Given the description of an element on the screen output the (x, y) to click on. 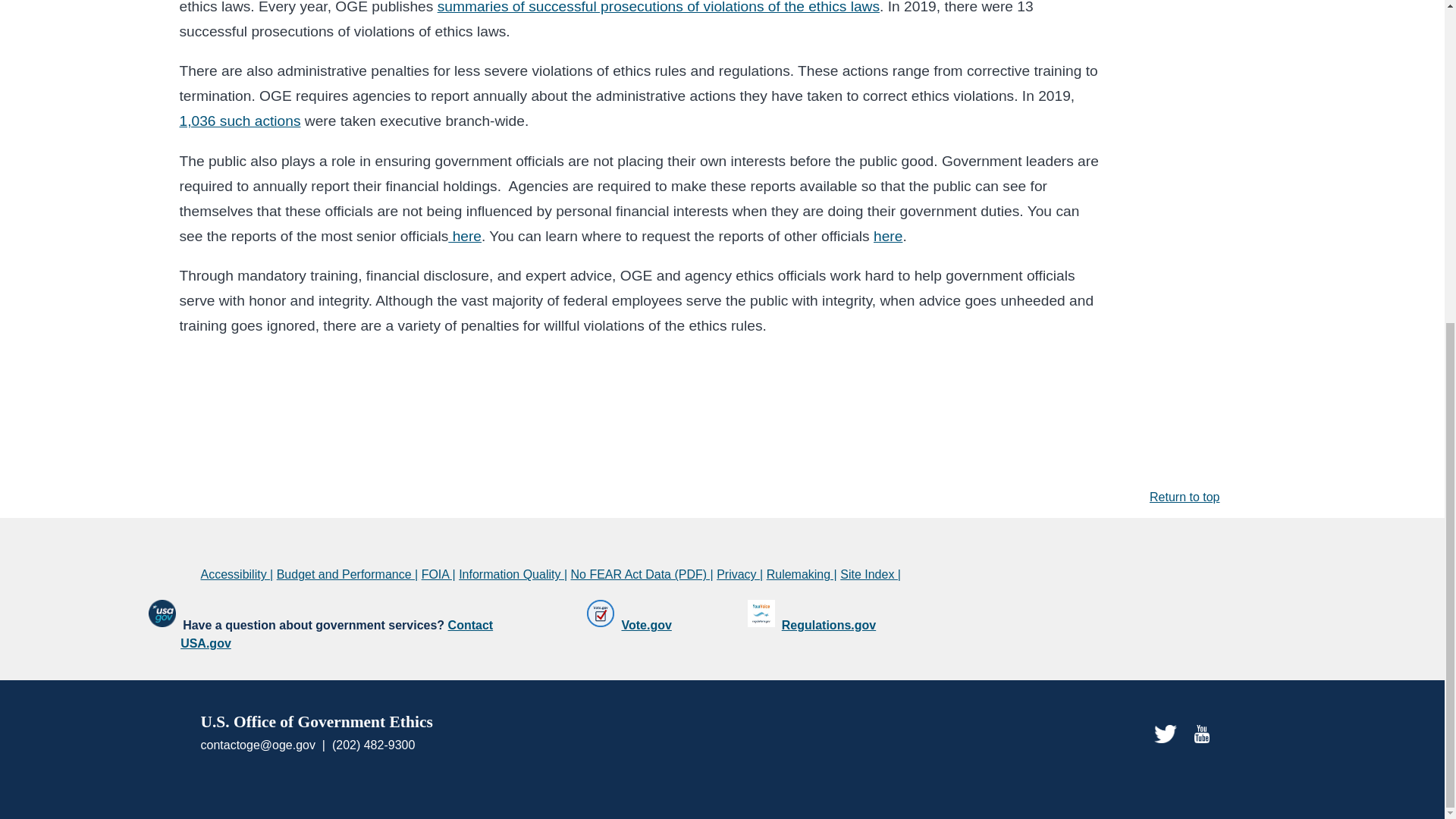
here (887, 236)
Return to top (1185, 496)
Regulations.gov (828, 625)
Vote.gov (646, 625)
 here (464, 236)
1,036 such actions (239, 120)
Contact USA.gov (336, 634)
